Given the description of an element on the screen output the (x, y) to click on. 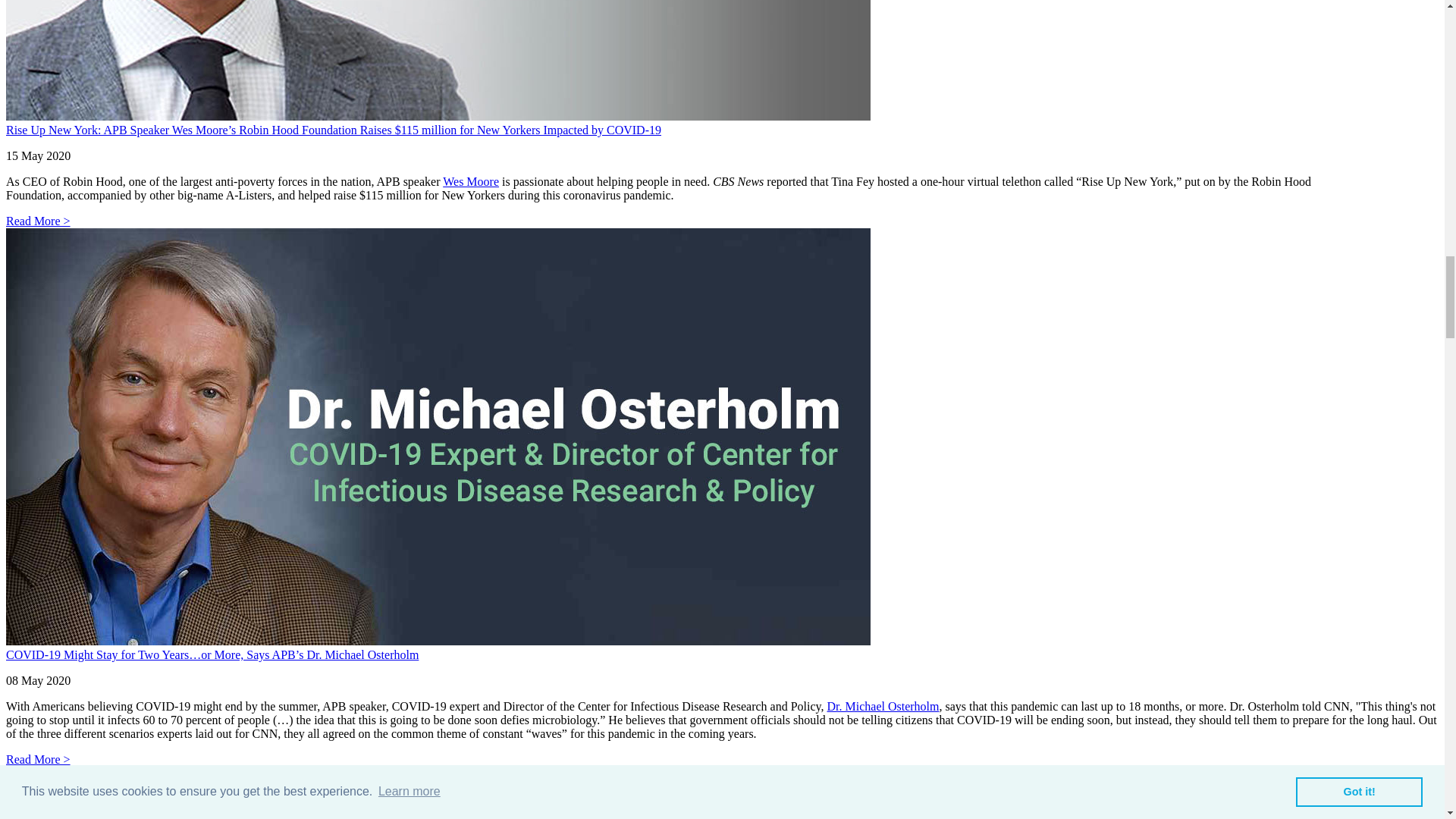
Wes Moore (470, 181)
Wes Moore (470, 181)
Dr. Michael Osterholm (883, 706)
Michael Osterholm, PhD MPH (883, 706)
